Given the description of an element on the screen output the (x, y) to click on. 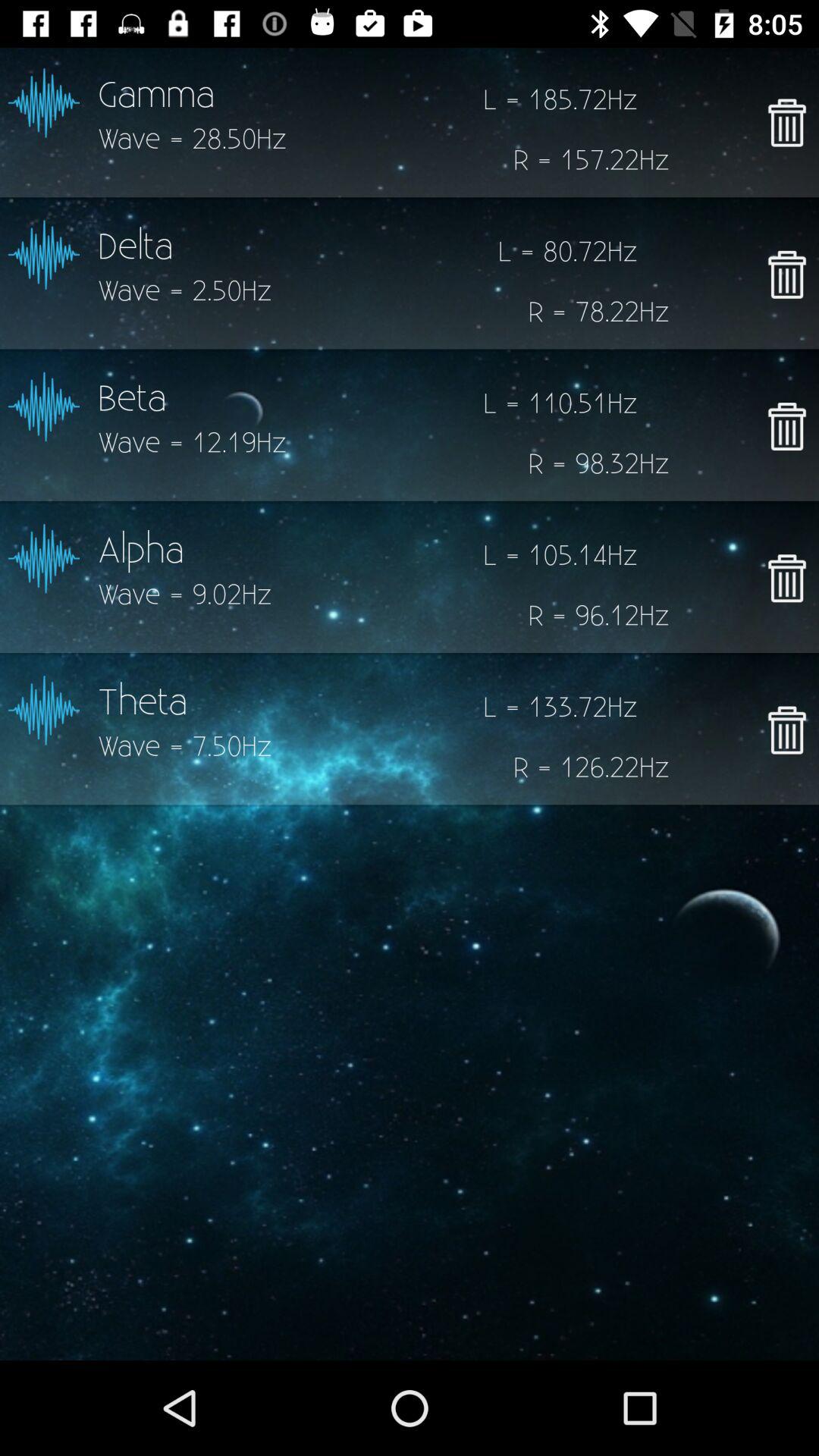
delete beta wave (787, 425)
